Given the description of an element on the screen output the (x, y) to click on. 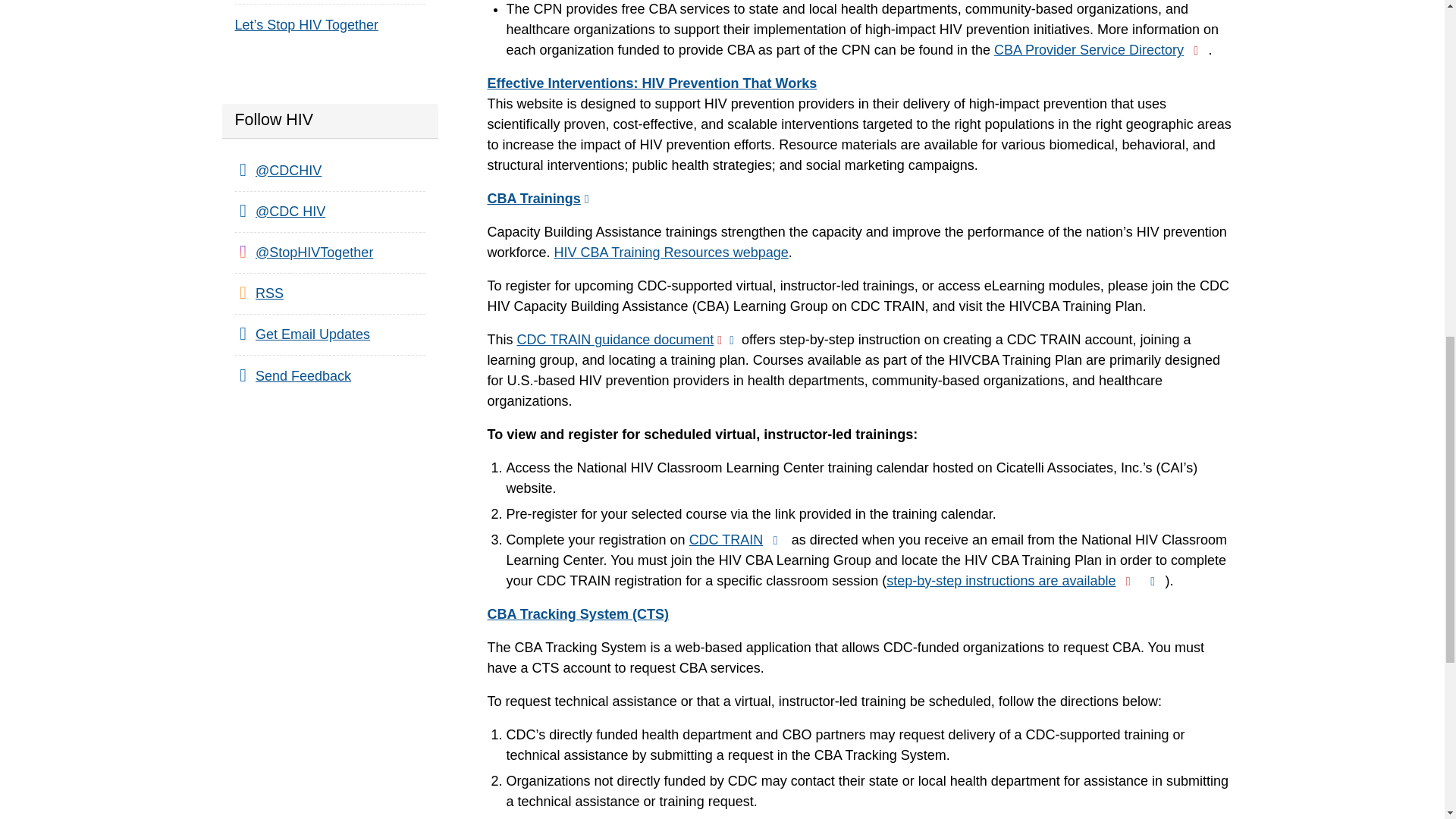
CDC TRAIN guidance document (627, 339)
CDC TRAIN (737, 539)
CBA Provider Service Directory (1101, 49)
Effective Interventions: HIV Prevention That Works (651, 83)
step-by-step instructions are available (1025, 580)
HIV CBA Training Resources webpage (671, 252)
CBA Trainings (539, 198)
